Given the description of an element on the screen output the (x, y) to click on. 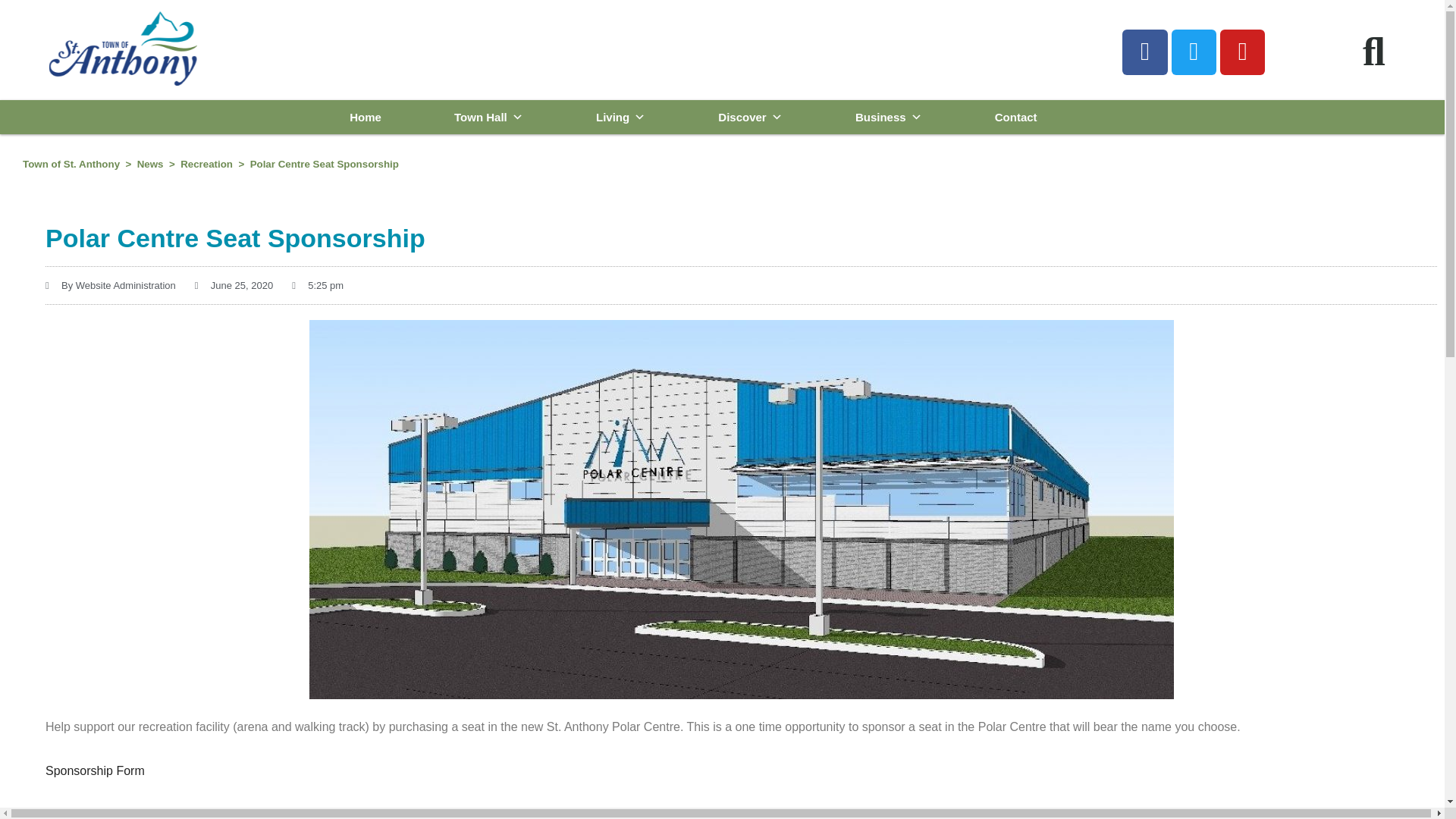
Town Hall (488, 116)
cropped-st-anthony-logo-transparent.png (122, 48)
Go to News. (149, 163)
Discover (749, 116)
Home (365, 116)
Go to the Recreation category archives. (206, 163)
Go to Town of St. Anthony. (71, 163)
Living (620, 116)
